Given the description of an element on the screen output the (x, y) to click on. 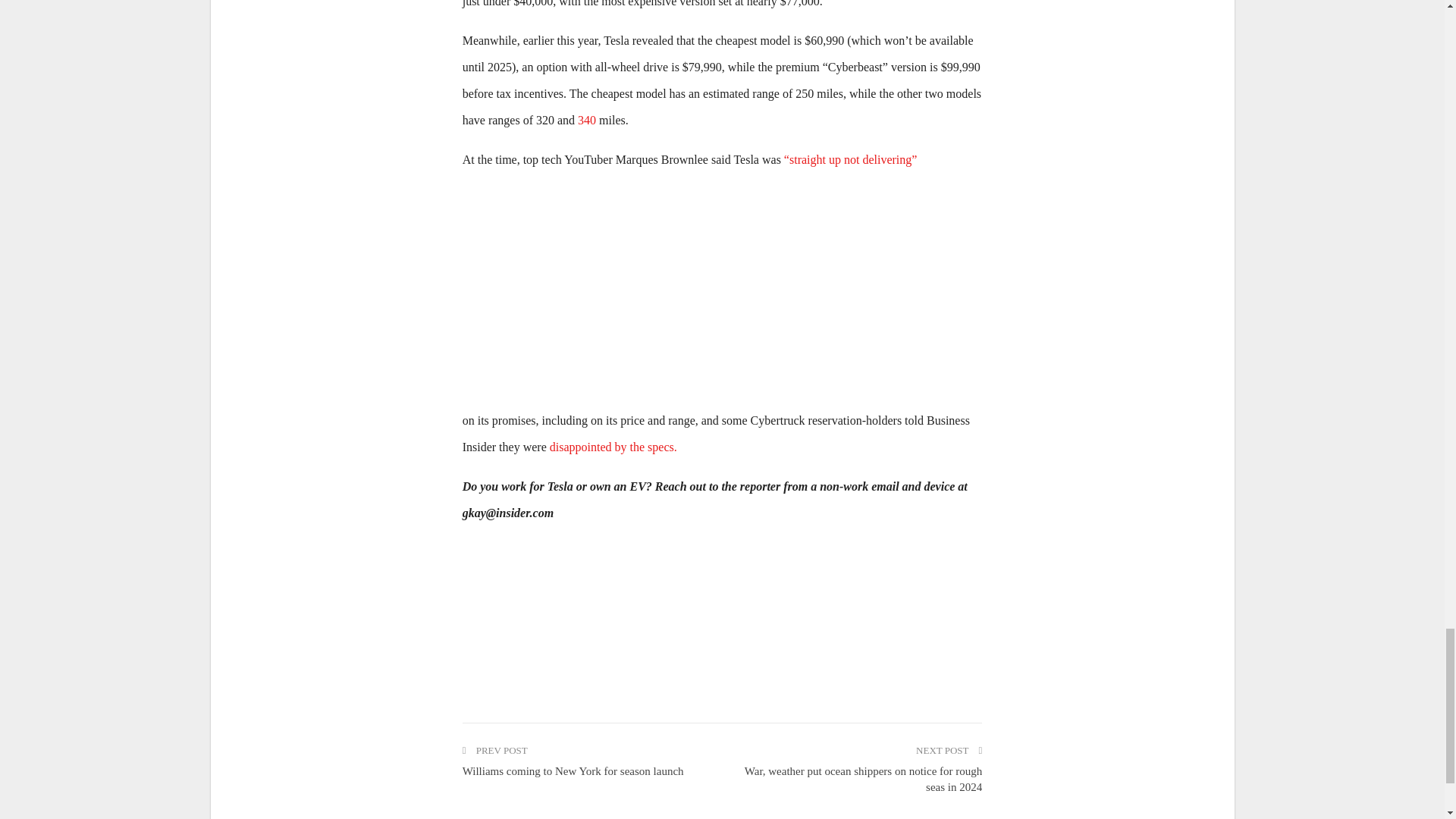
Williams coming to New York for season launch (573, 770)
340 (586, 119)
disappointed by the specs. (613, 446)
